Given the description of an element on the screen output the (x, y) to click on. 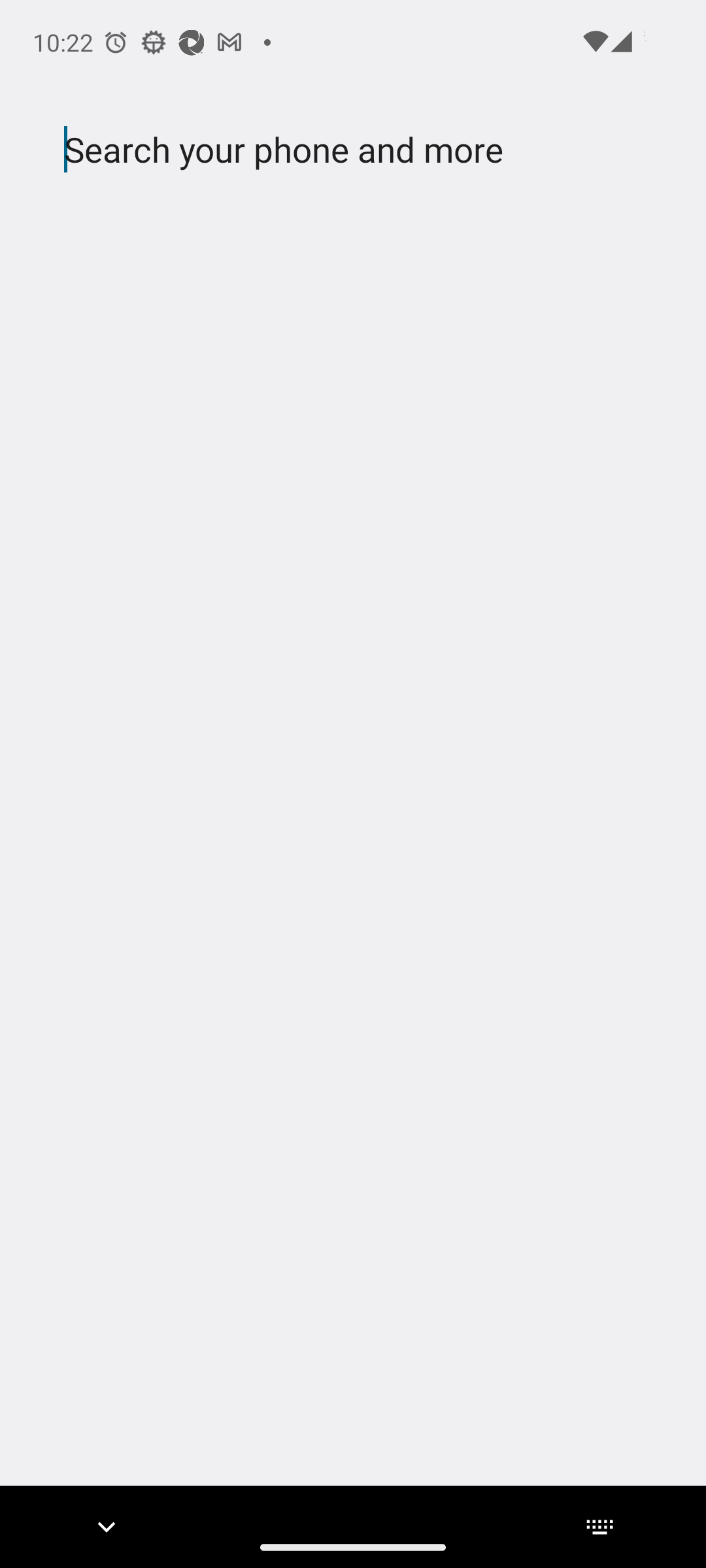
Search your phone and more (321, 149)
